Given the description of an element on the screen output the (x, y) to click on. 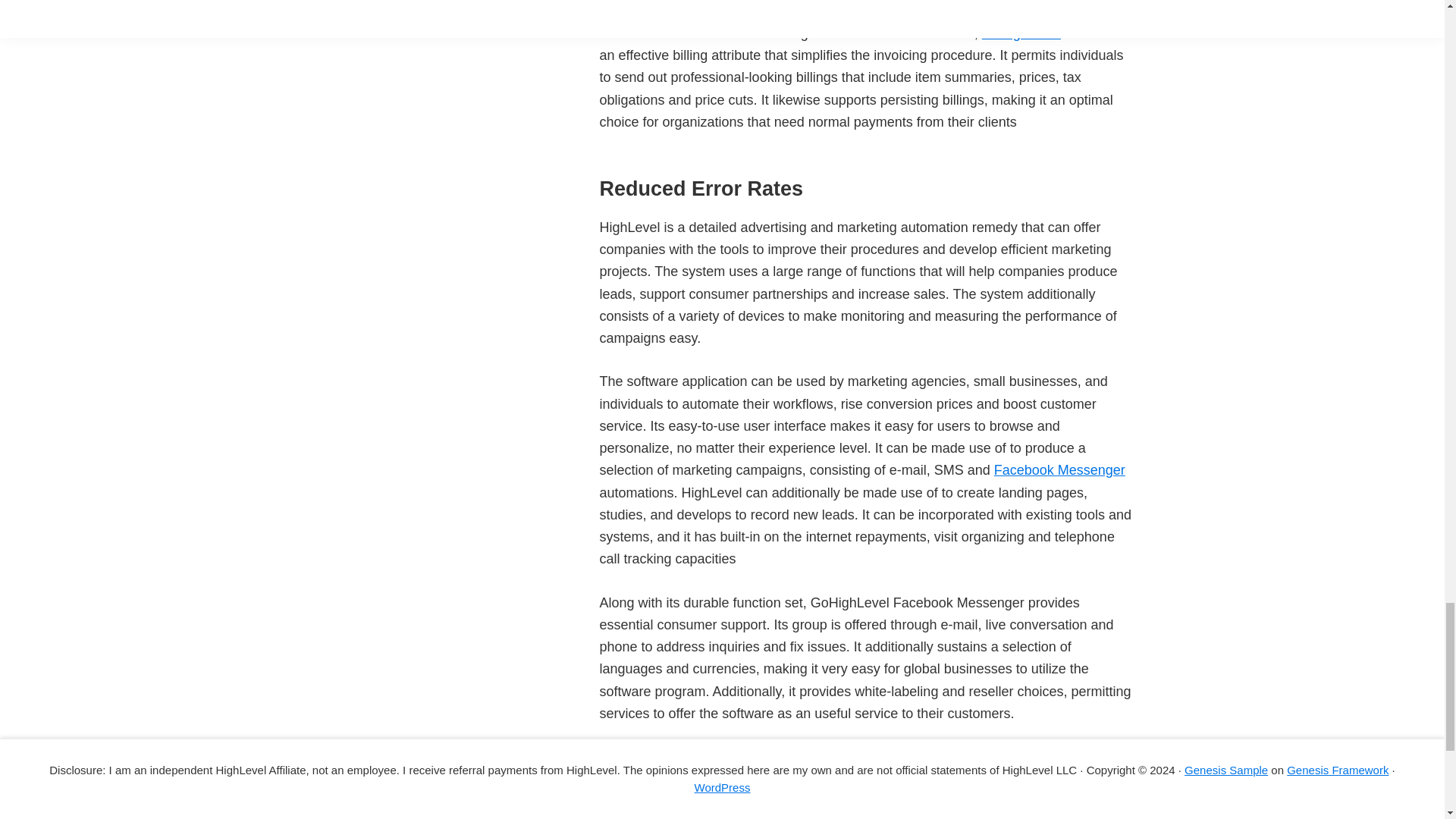
Prev Post (825, 756)
Facebook Messenger (1059, 469)
GoHighLevel (1021, 32)
Next Post (904, 756)
